Given the description of an element on the screen output the (x, y) to click on. 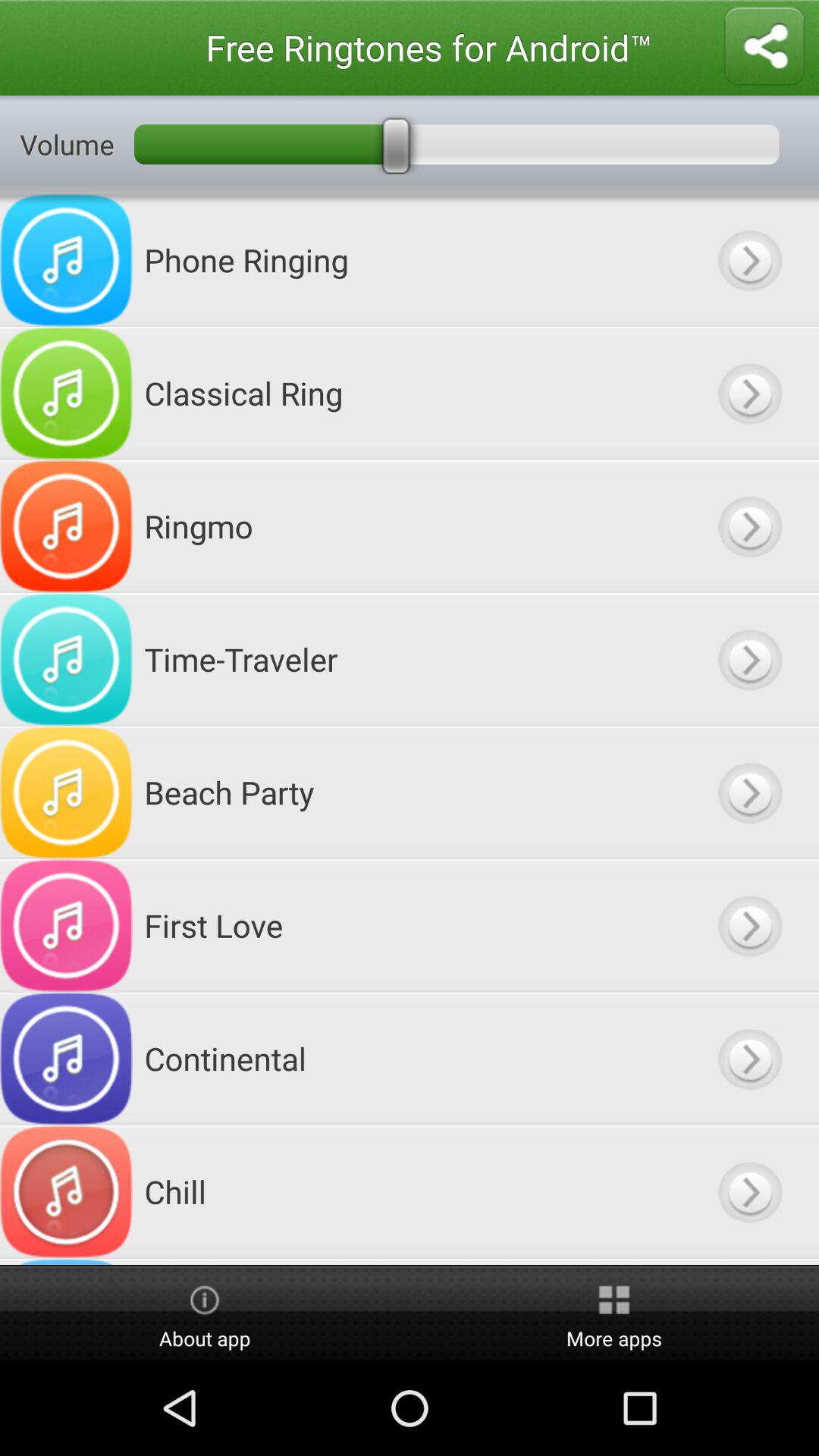
next (749, 526)
